Given the description of an element on the screen output the (x, y) to click on. 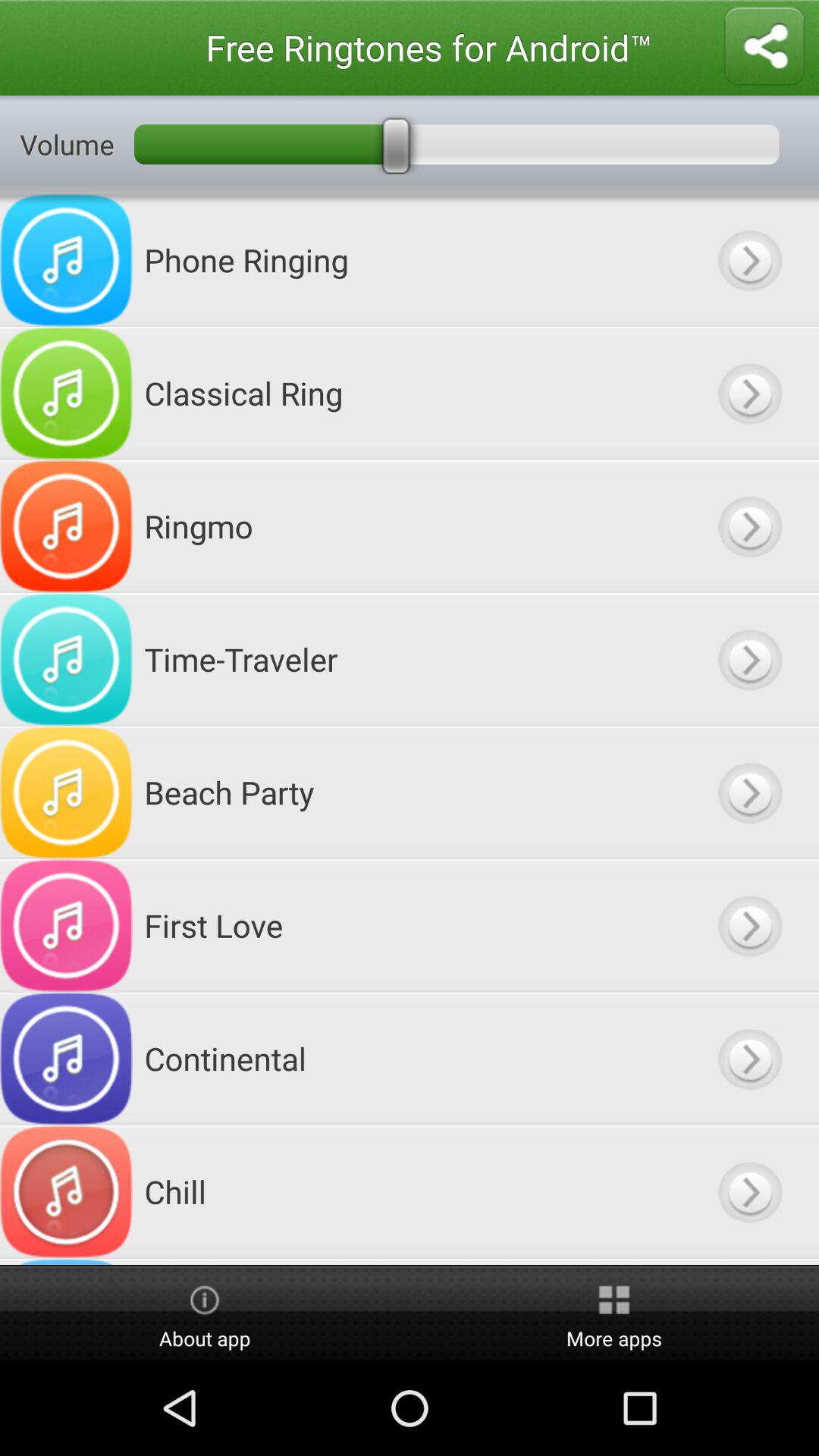
next (749, 526)
